Given the description of an element on the screen output the (x, y) to click on. 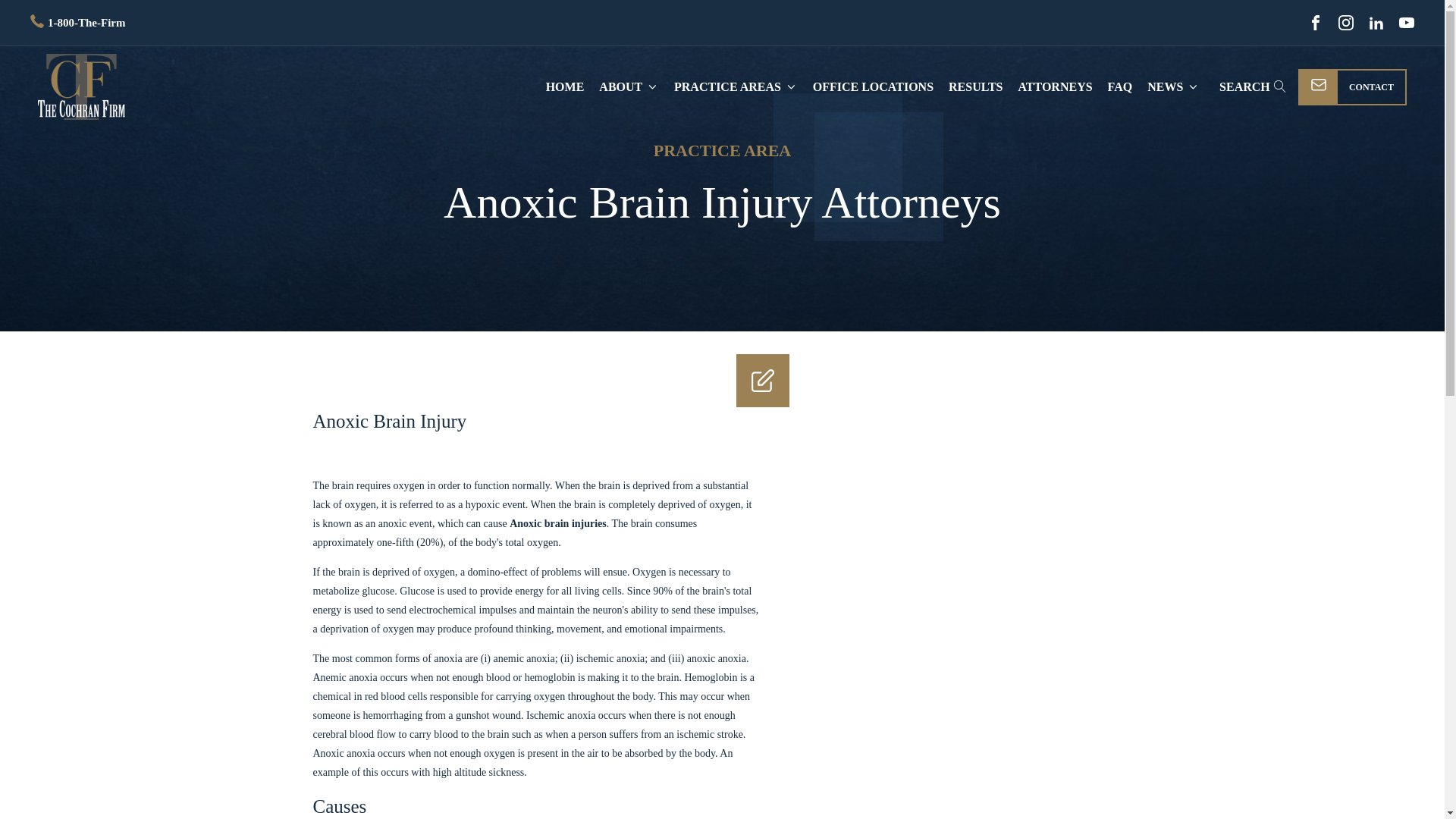
PRACTICE AREAS (735, 86)
About (628, 86)
Practice Areas (735, 86)
OFFICE LOCATIONS (872, 86)
1-800-The-Firm (77, 22)
NEWS (1173, 86)
Search (25, 9)
CONTACT (1352, 86)
RESULTS (976, 86)
Home (565, 86)
